Given the description of an element on the screen output the (x, y) to click on. 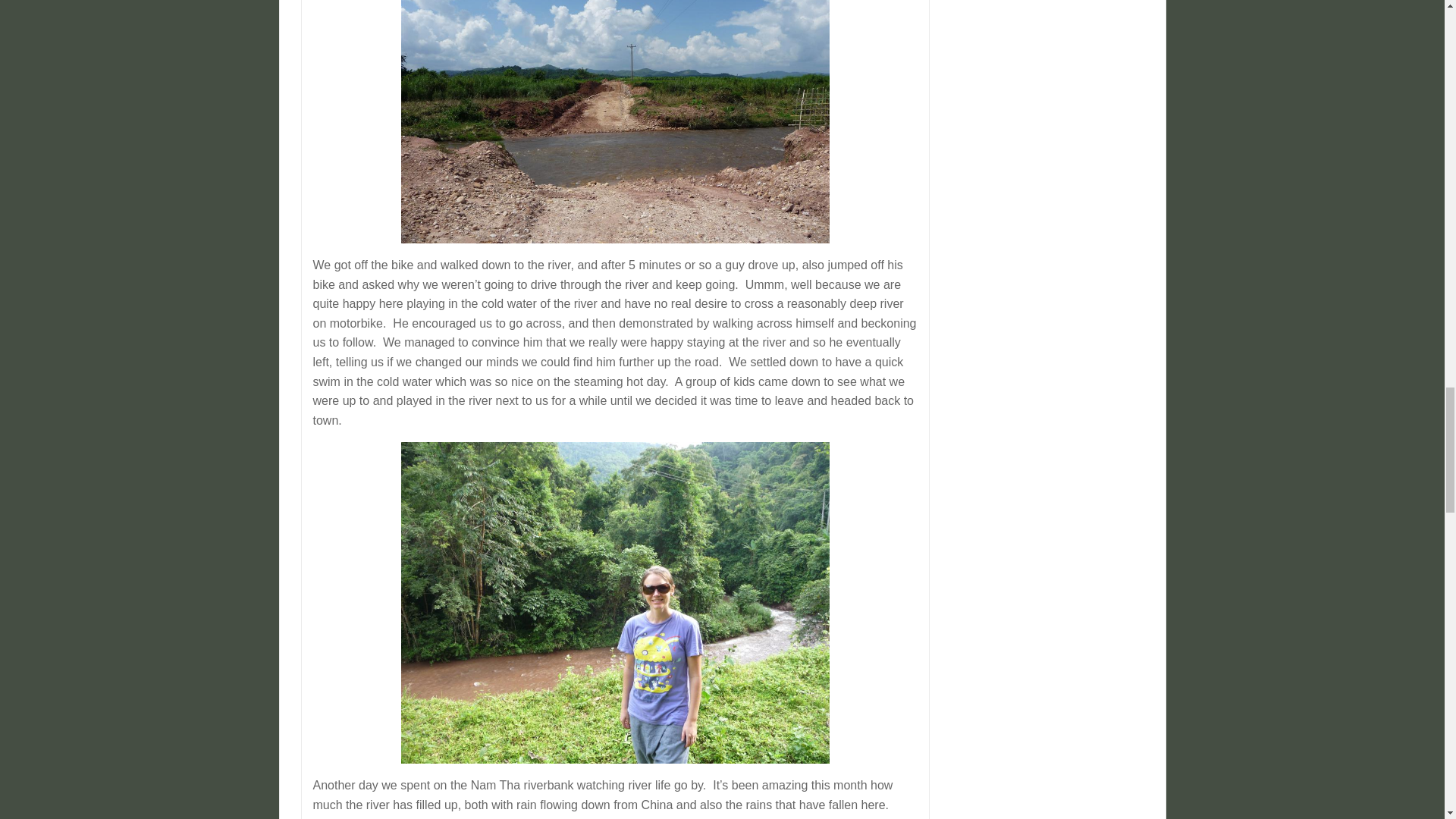
River crossing the road (615, 121)
